Given the description of an element on the screen output the (x, y) to click on. 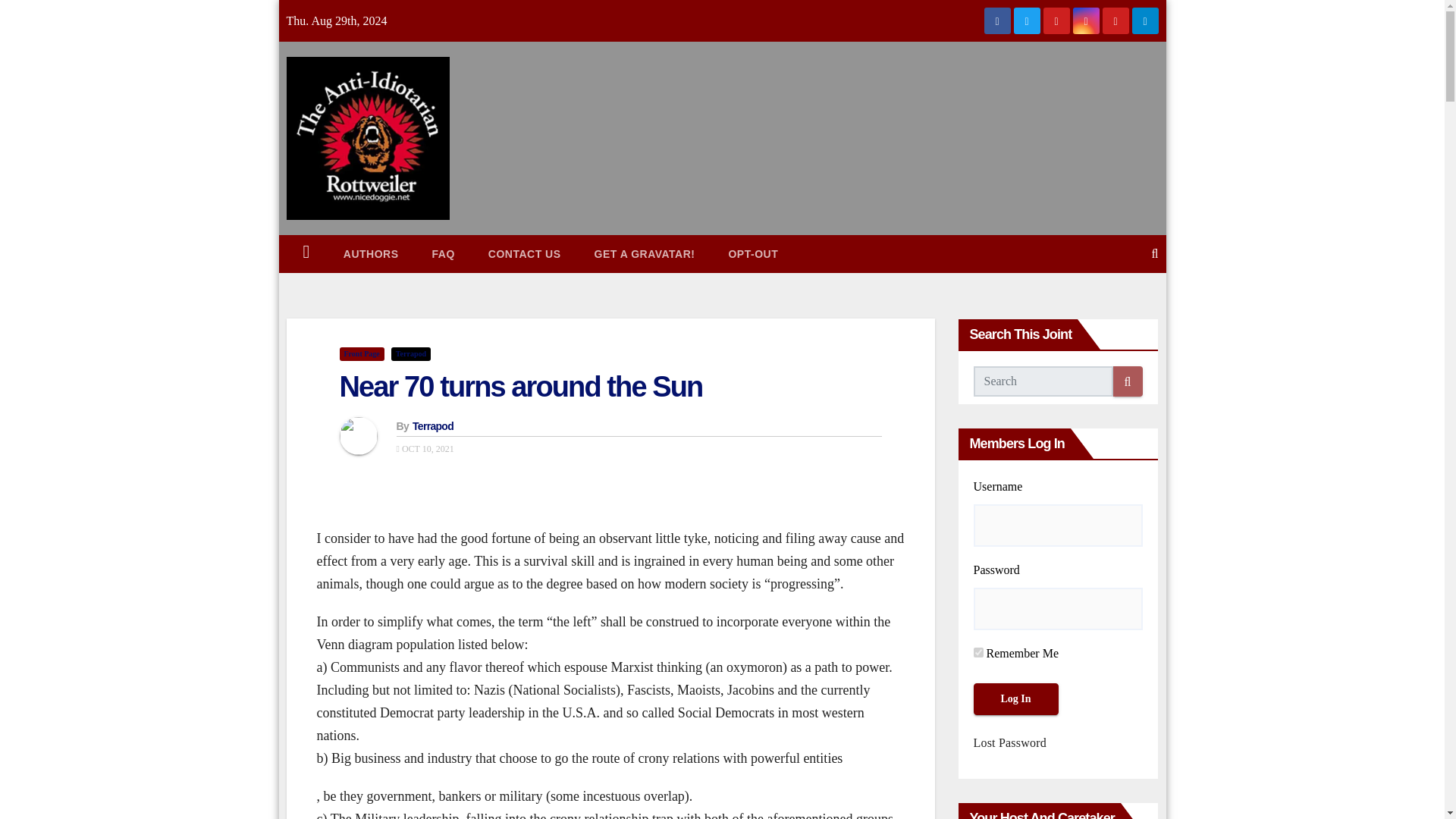
AUTHORS (370, 253)
Contact Us (524, 253)
Front Page (361, 354)
Near 70 turns around the Sun (521, 386)
FAQ (442, 253)
OPT-OUT (752, 253)
Home (306, 253)
Terrapod (432, 426)
Terrapod (410, 354)
FAQ (442, 253)
